Given the description of an element on the screen output the (x, y) to click on. 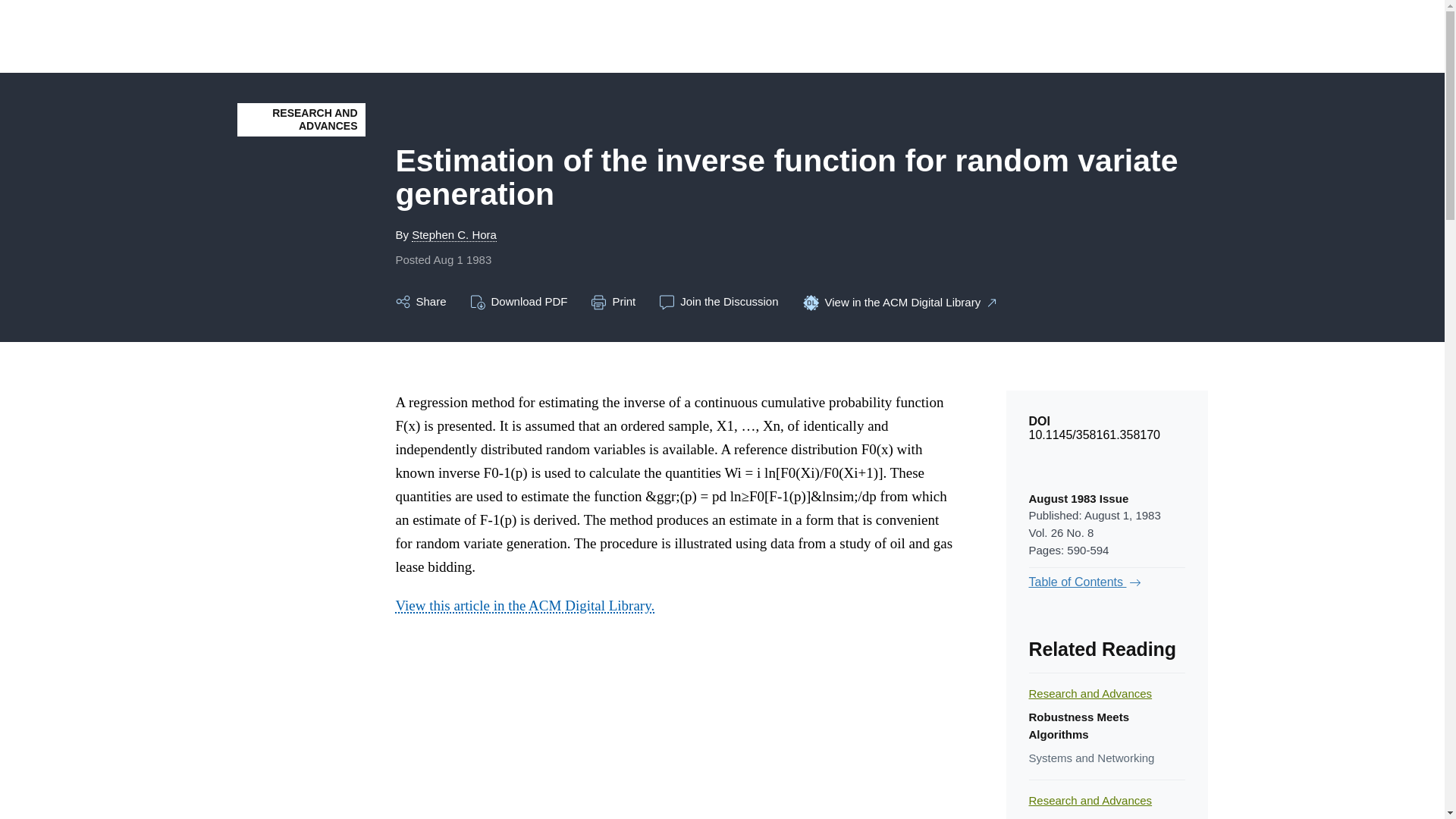
Posts by Stephen C. Hora (454, 234)
